Given the description of an element on the screen output the (x, y) to click on. 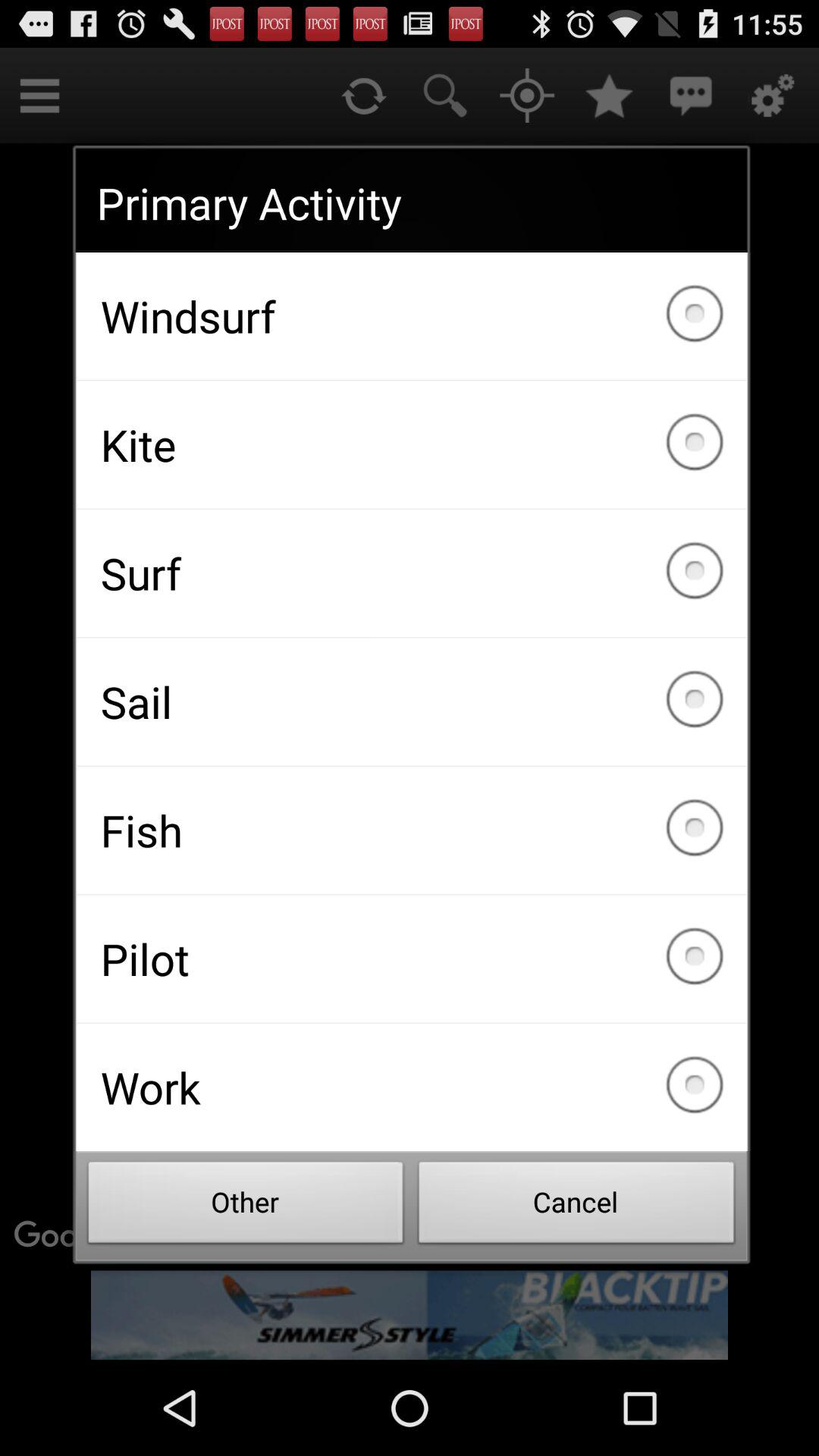
open the cancel item (576, 1206)
